Given the description of an element on the screen output the (x, y) to click on. 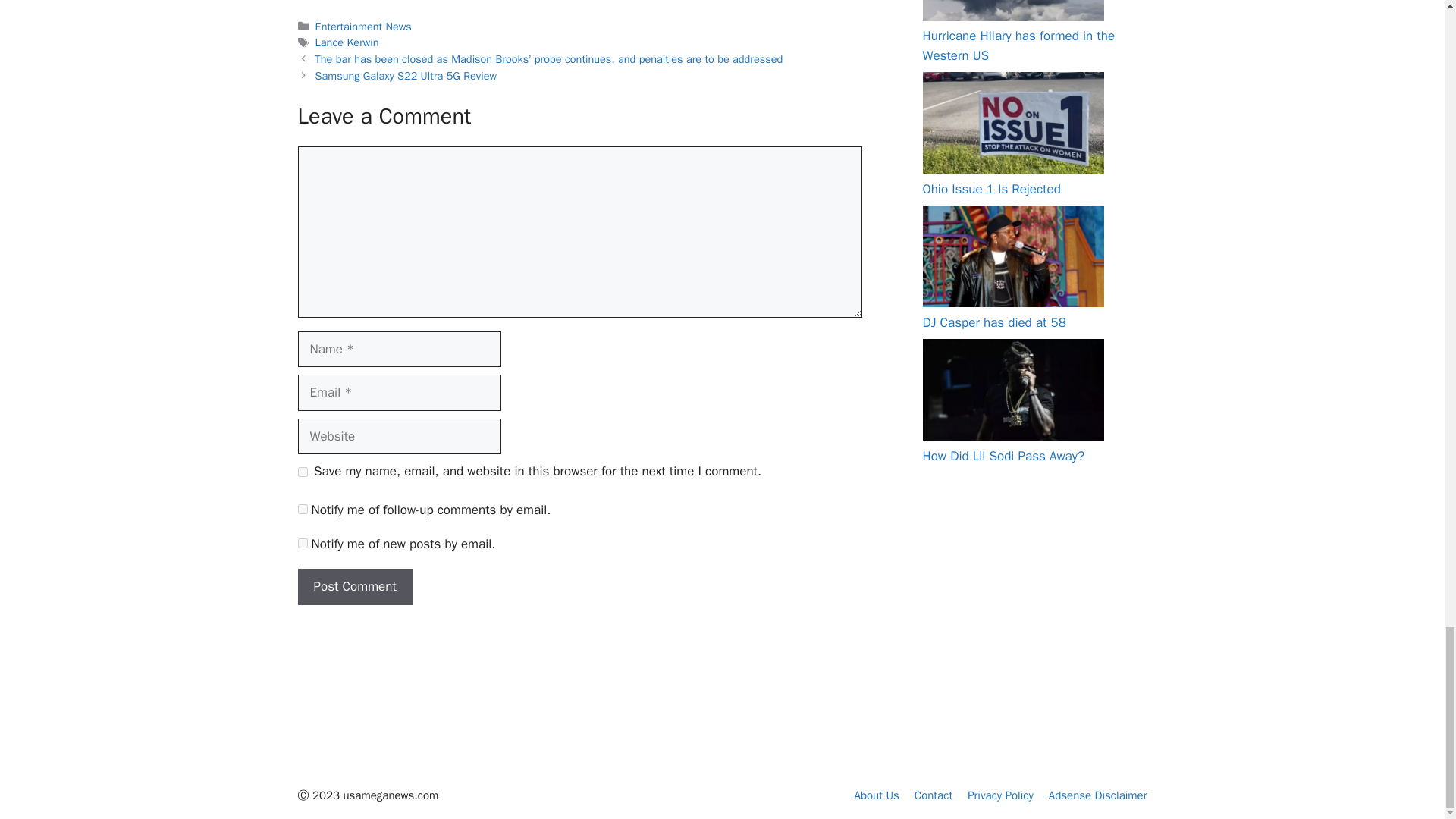
subscribe (302, 542)
yes (302, 471)
Samsung Galaxy S22 Ultra 5G Review (405, 75)
Post Comment (354, 586)
Post Comment (354, 586)
subscribe (302, 509)
Lance Kerwin (346, 42)
Entertainment News (363, 25)
